Given the description of an element on the screen output the (x, y) to click on. 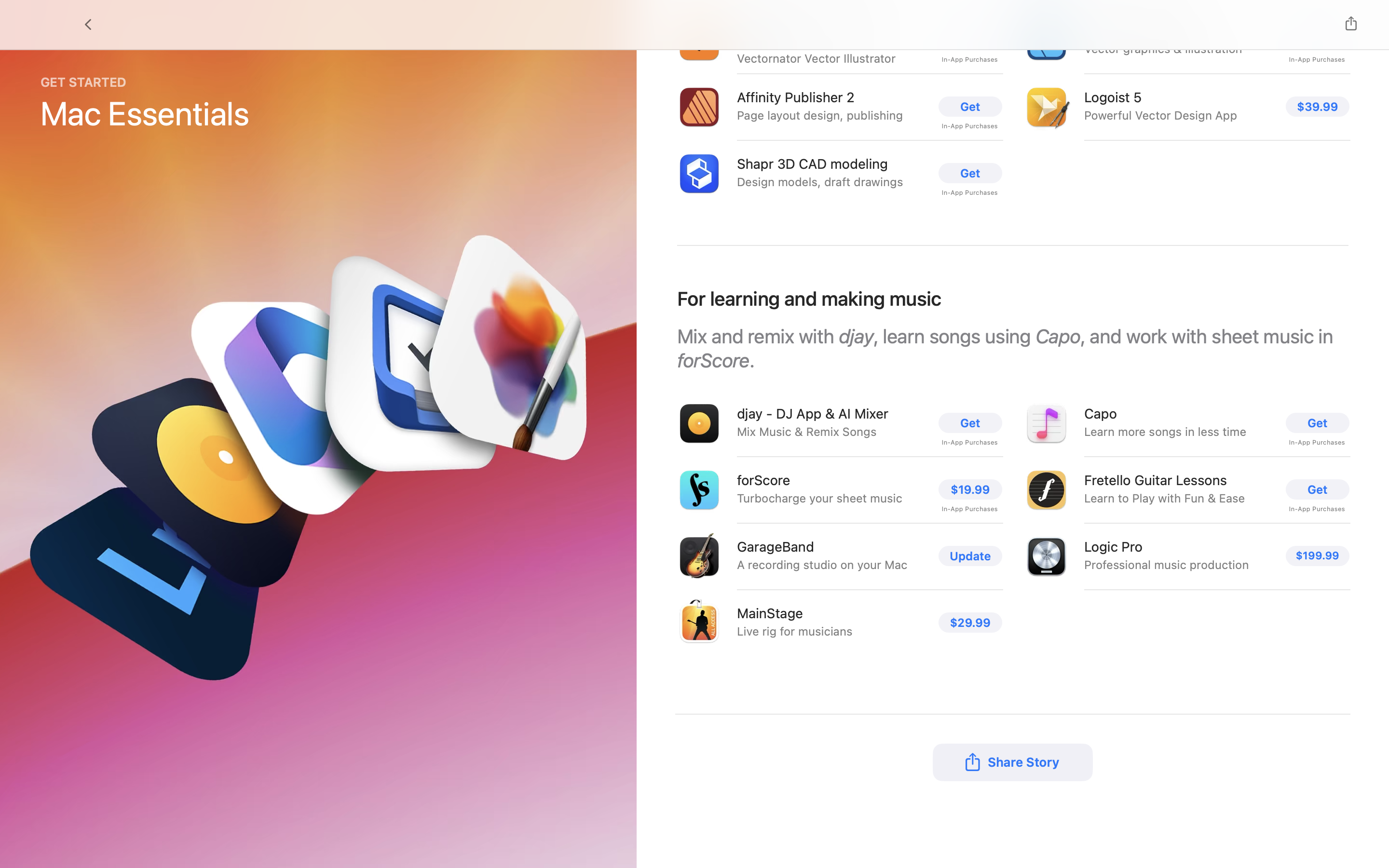
Mac Essentials Element type: AXStaticText (144, 112)
GET STARTED, Mac Essentials, Element type: AXStaticText (144, 103)
